Given the description of an element on the screen output the (x, y) to click on. 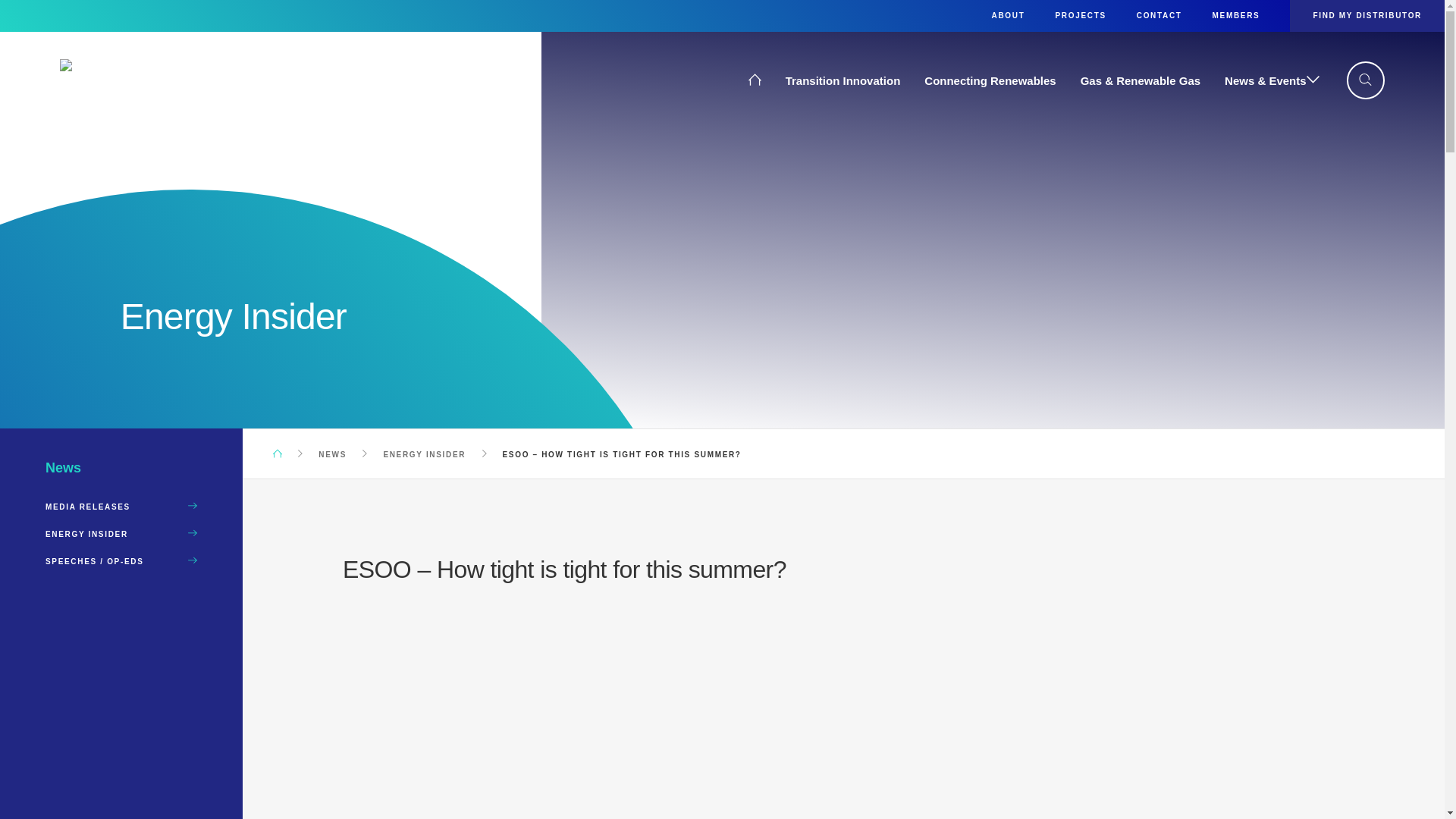
MEDIA RELEASES (120, 507)
Connecting Renewables (989, 80)
ENERGY INSIDER (120, 534)
MEMBERS (1236, 15)
CONTACT (1159, 15)
Our Members (156, 88)
ABOUT (1008, 15)
NEWS (333, 454)
PROJECTS (1079, 15)
Transition Innovation (842, 80)
